Given the description of an element on the screen output the (x, y) to click on. 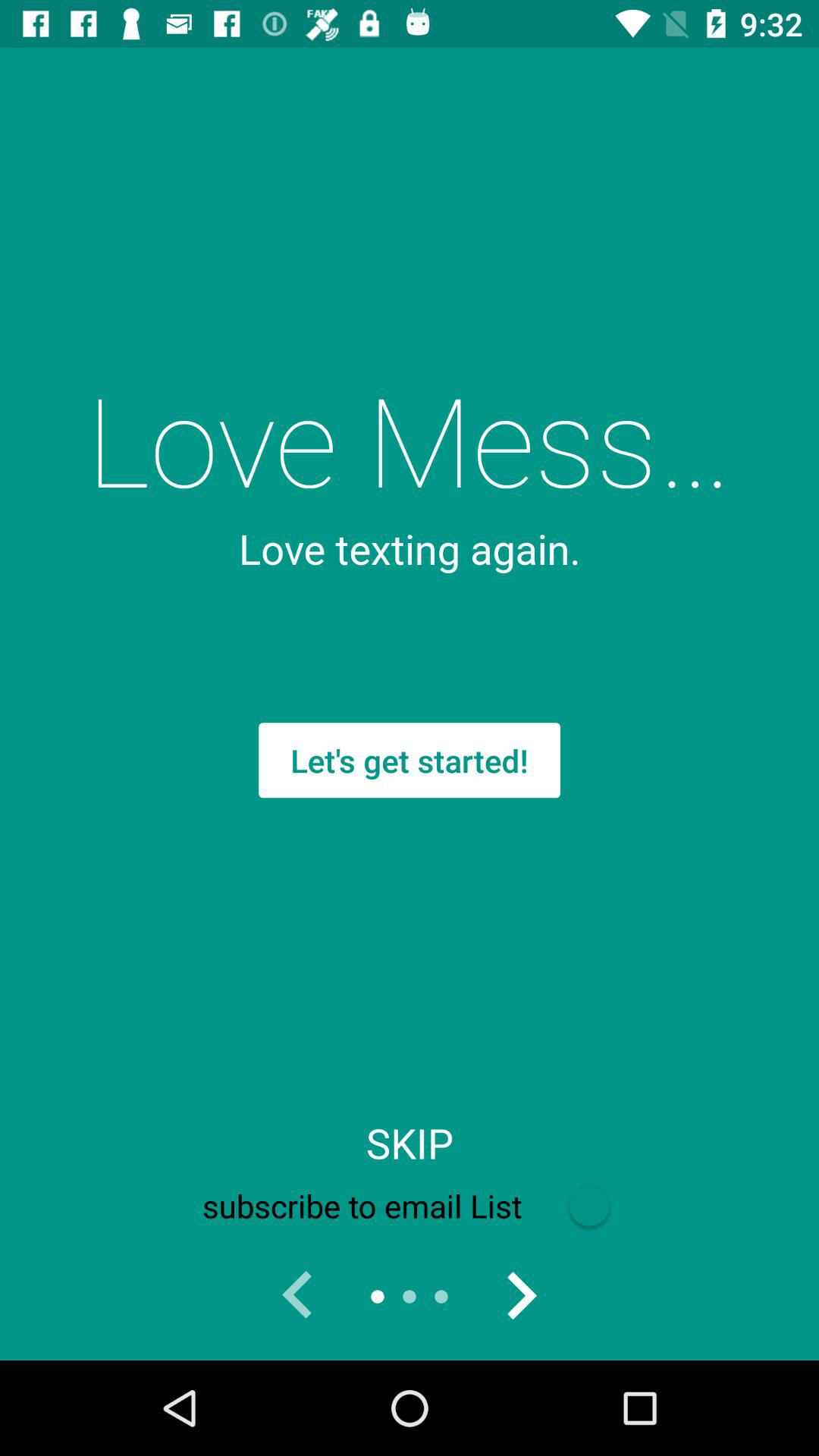
go next (520, 1296)
